Given the description of an element on the screen output the (x, y) to click on. 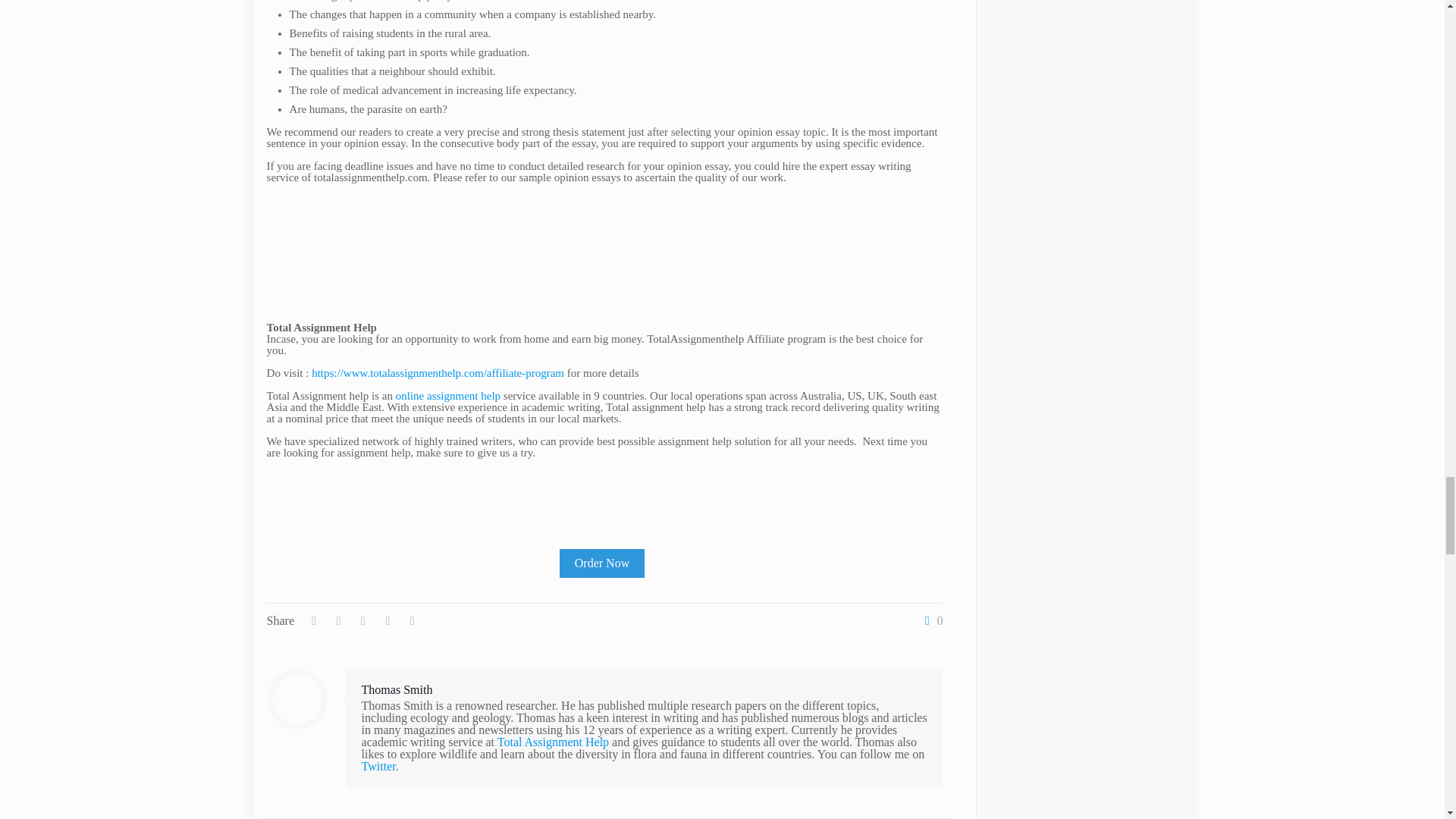
Twitter (378, 766)
0 (930, 621)
Thomas Smith (396, 689)
online assignment help (448, 395)
Total Assignment Help (552, 741)
Order Now (602, 563)
